Given the description of an element on the screen output the (x, y) to click on. 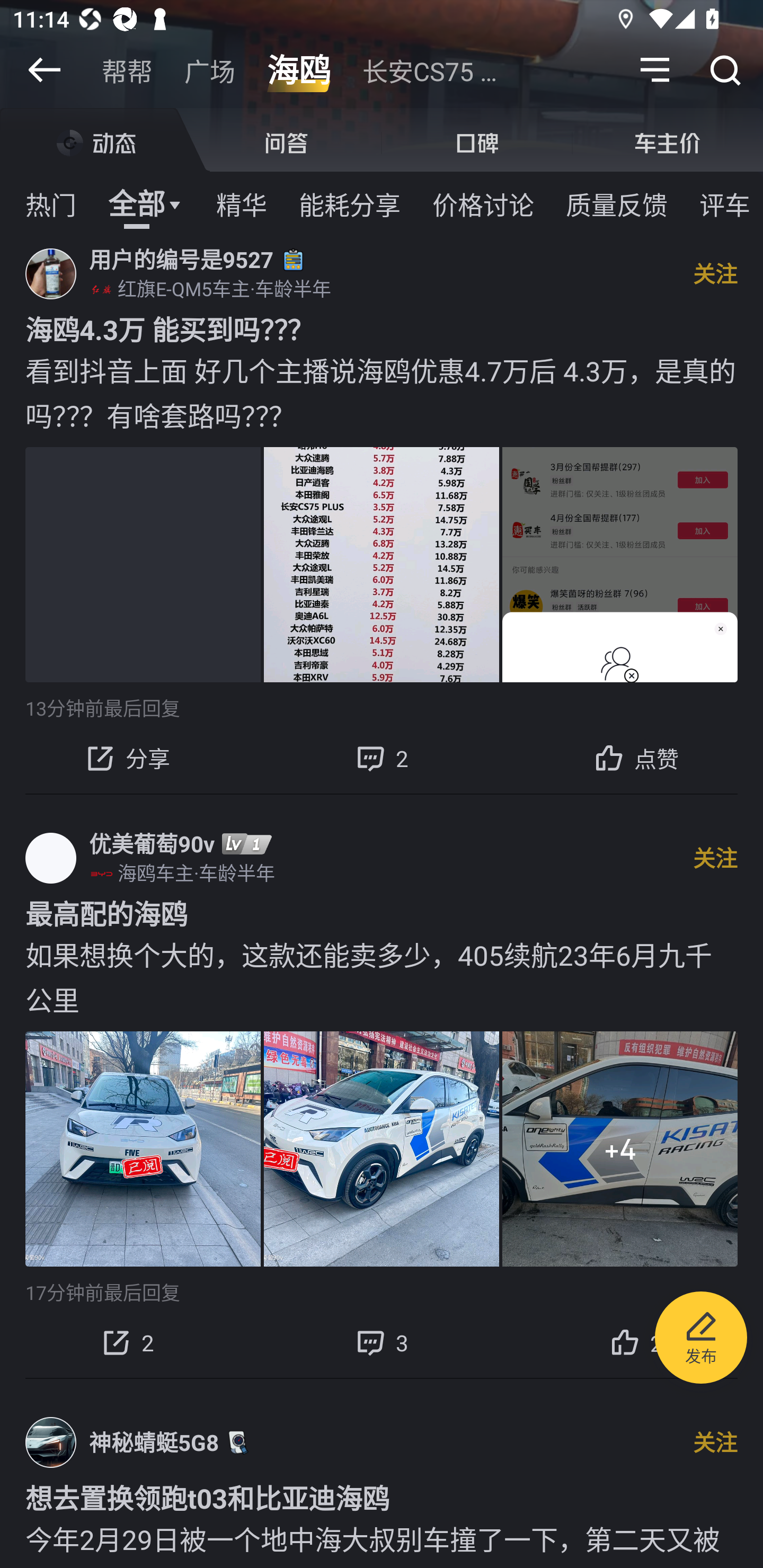
帮帮 (126, 69)
广场 (209, 69)
海鸥 (298, 69)
长安CS75 … (429, 69)
 (654, 69)
 (724, 69)
热门 (50, 202)
全部  (146, 202)
精华 (241, 202)
能耗分享 (349, 202)
价格讨论 (483, 202)
质量反馈 (616, 202)
评车 (724, 202)
用户的编号是9527 (181, 259)
关注 (714, 273)
看到抖音上面 好几个主播说海鸥优惠4.7万后 4.3万，是真的吗？？？有啥套路吗？？？ (381, 391)
 分享 (127, 757)
 2 (381, 757)
点赞 (635, 757)
优美葡萄90v (151, 843)
关注 (714, 857)
如果想换个大的，这款还能卖多少，405续航23年6月九千公里 (381, 976)
+4 (619, 1148)
 发布 (701, 1341)
 2 (127, 1342)
 3 (381, 1342)
关注 (714, 1442)
神秘蜻蜓5G8 (153, 1442)
